Given the description of an element on the screen output the (x, y) to click on. 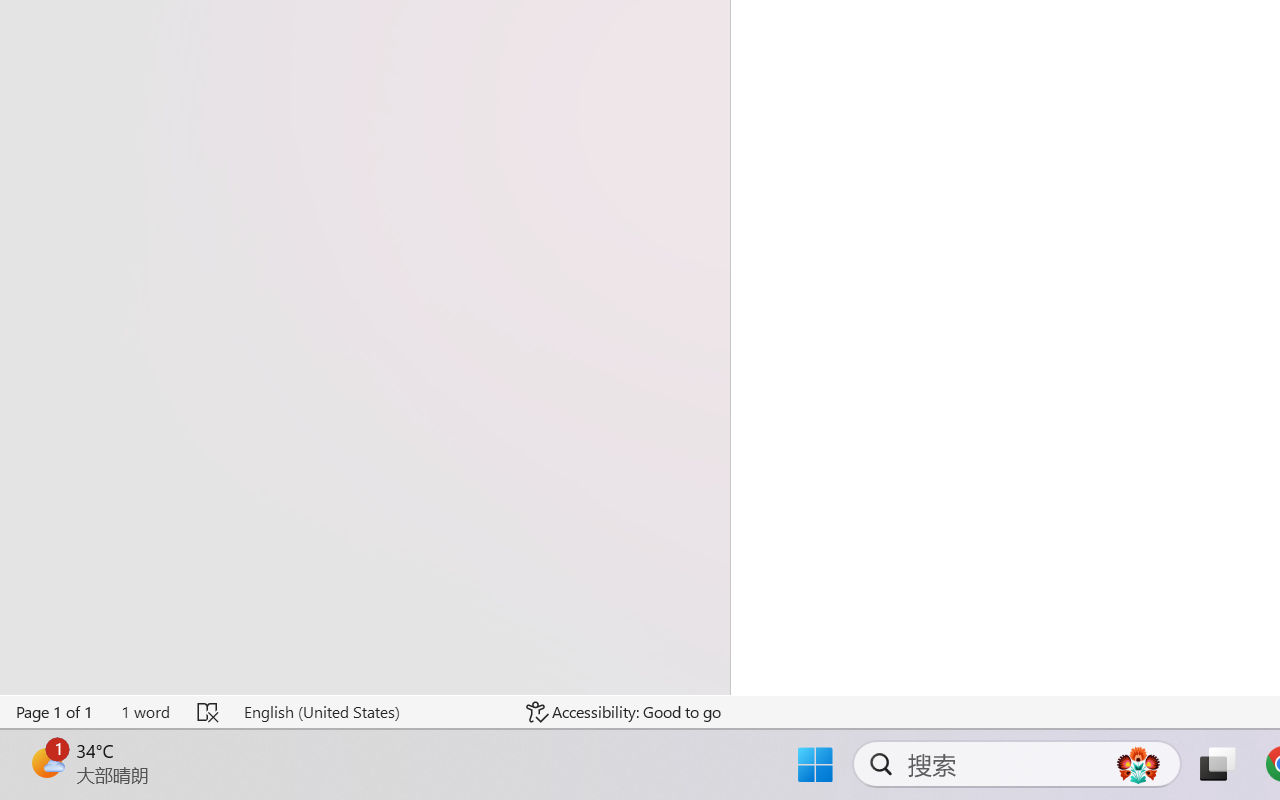
Spelling and Grammar Check Errors (208, 712)
